Given the description of an element on the screen output the (x, y) to click on. 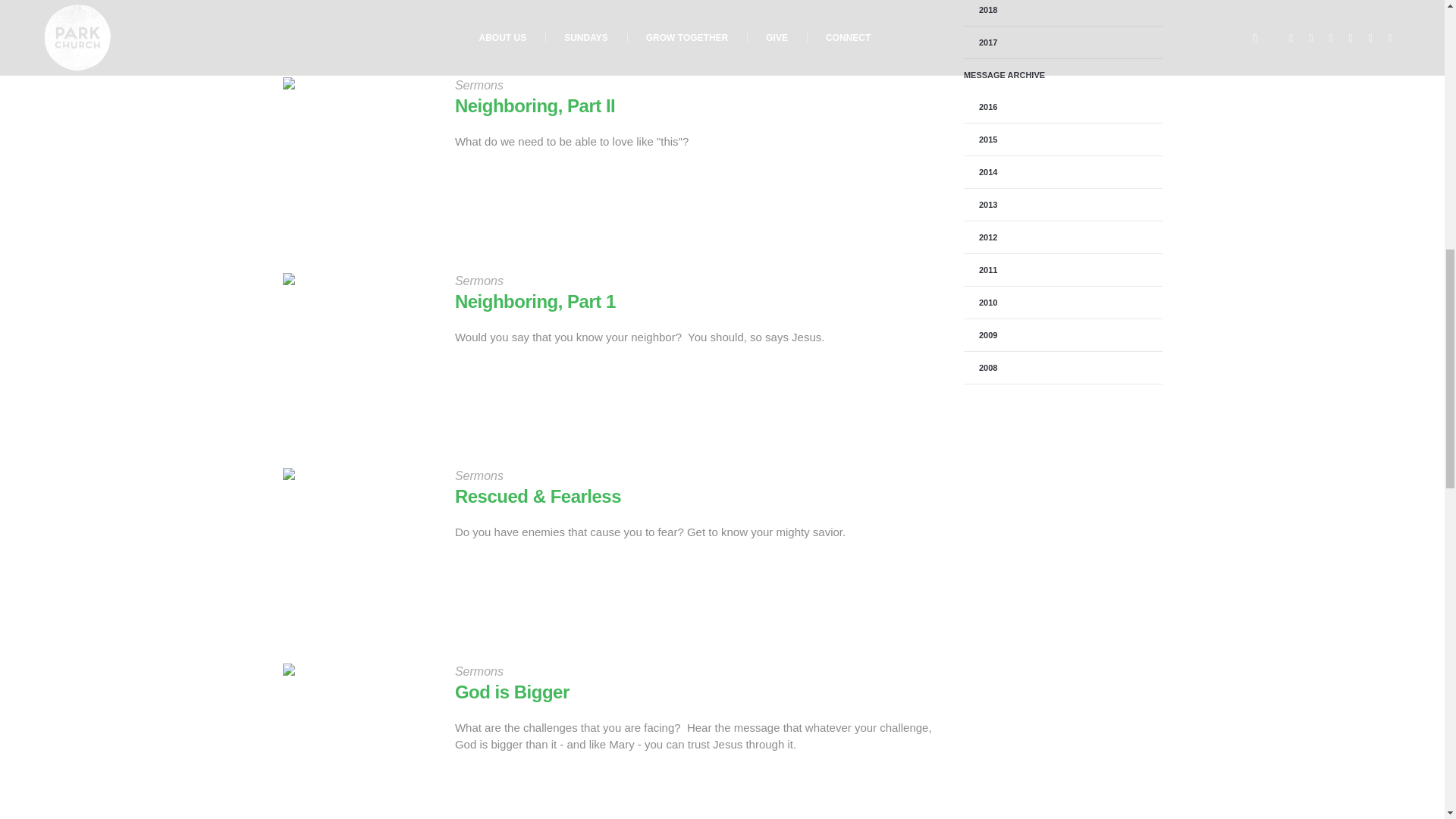
Neighboring, Part II (534, 105)
God is Bigger (511, 691)
Neighboring, Part 1 (534, 301)
How Does God Speak to Us? (356, 15)
Neighboring, Part II (356, 151)
